Given the description of an element on the screen output the (x, y) to click on. 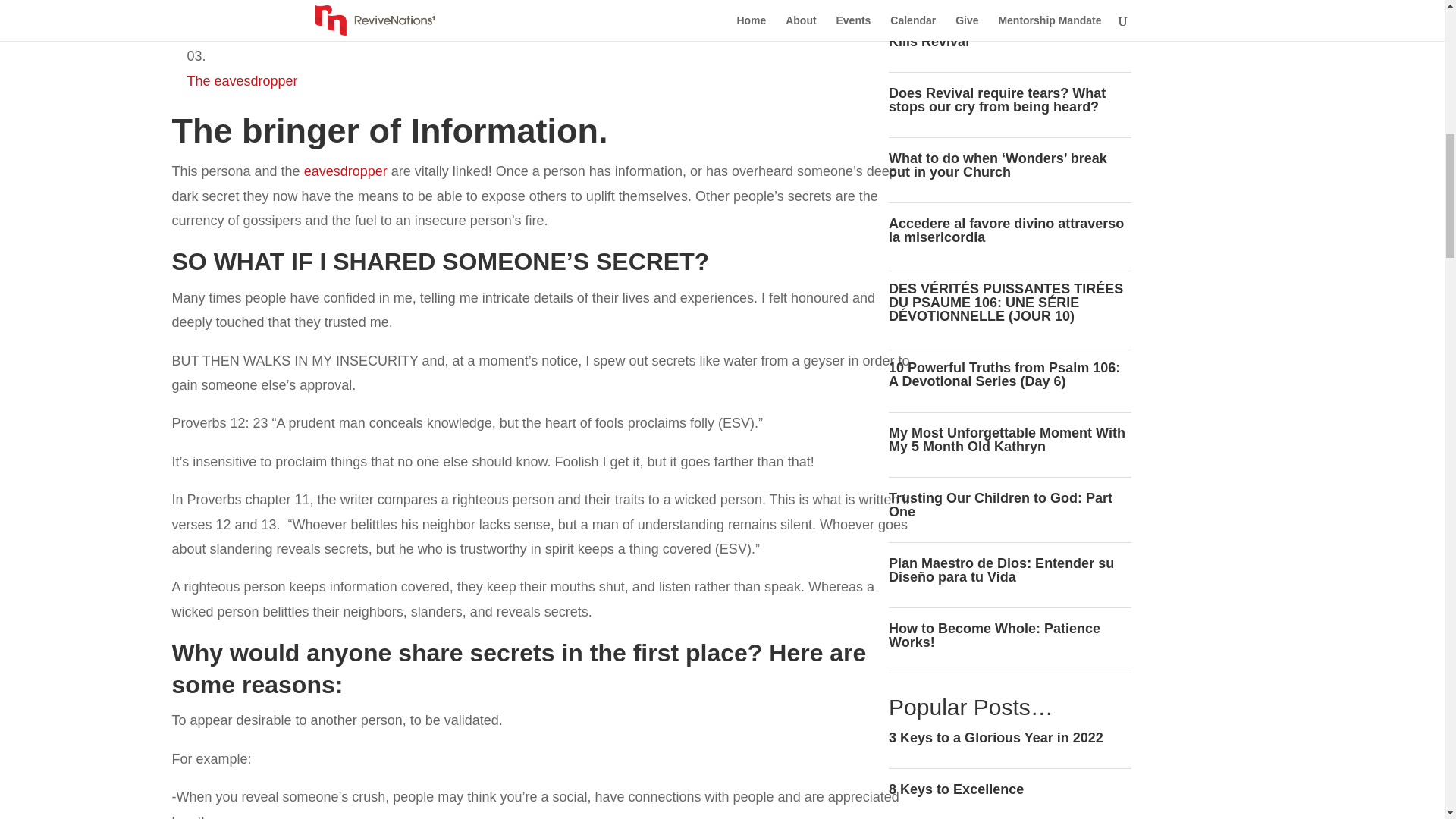
eavesdropper (343, 171)
Trusting Our Children to God: Part One (1000, 504)
The eavesdropper (241, 80)
The fisher of compliments (264, 31)
Accedere al favore divino attraverso la misericordia (1006, 230)
8 Keys to Excellence (955, 789)
3 Keys to a Glorious Year in 2022 (995, 737)
My Most Unforgettable Moment With My 5 Month Old Kathryn (1006, 439)
How to Become Whole: Patience Works! (994, 635)
